Given the description of an element on the screen output the (x, y) to click on. 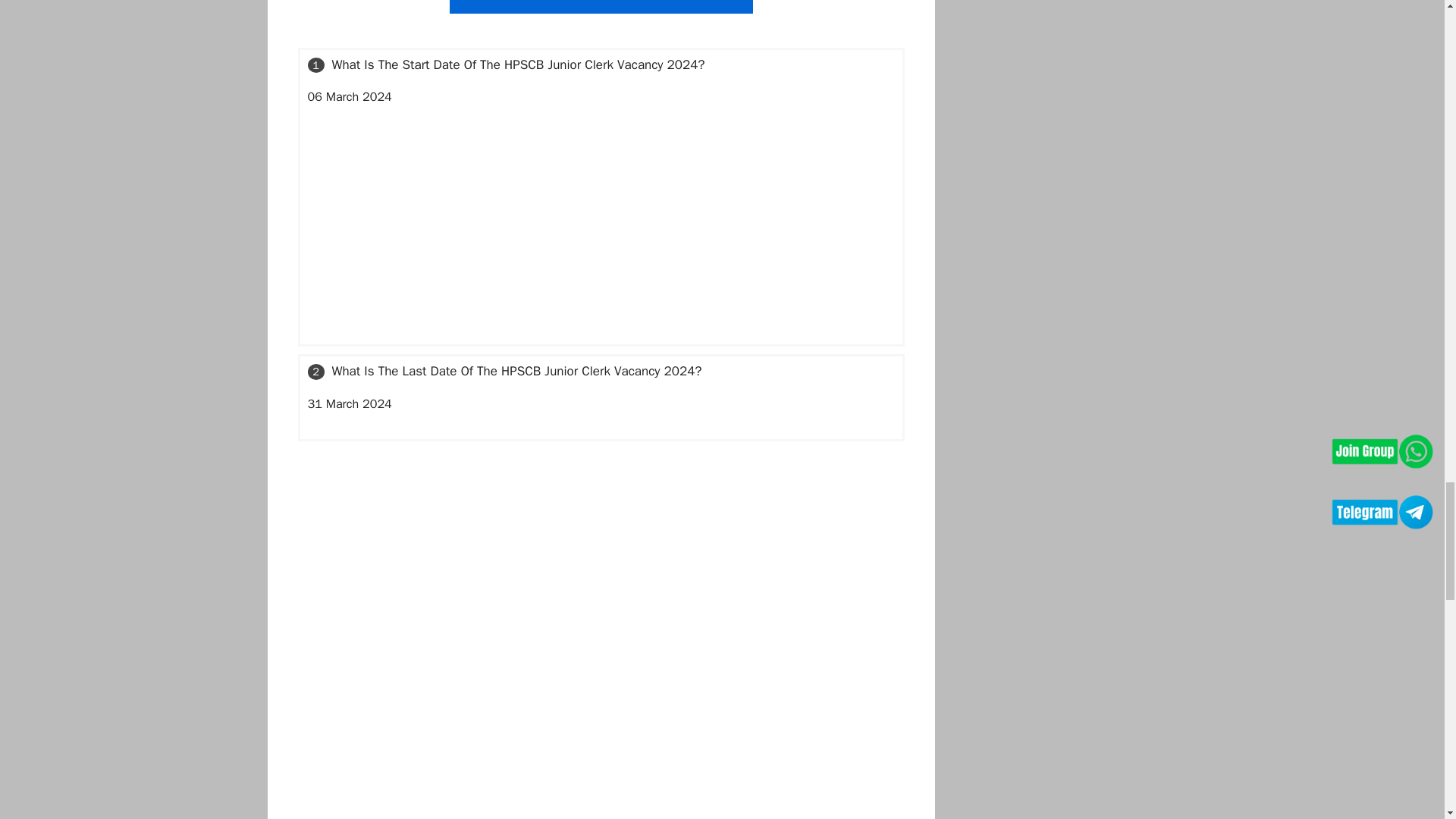
All Govt. Job Formnotice (600, 6)
